Given the description of an element on the screen output the (x, y) to click on. 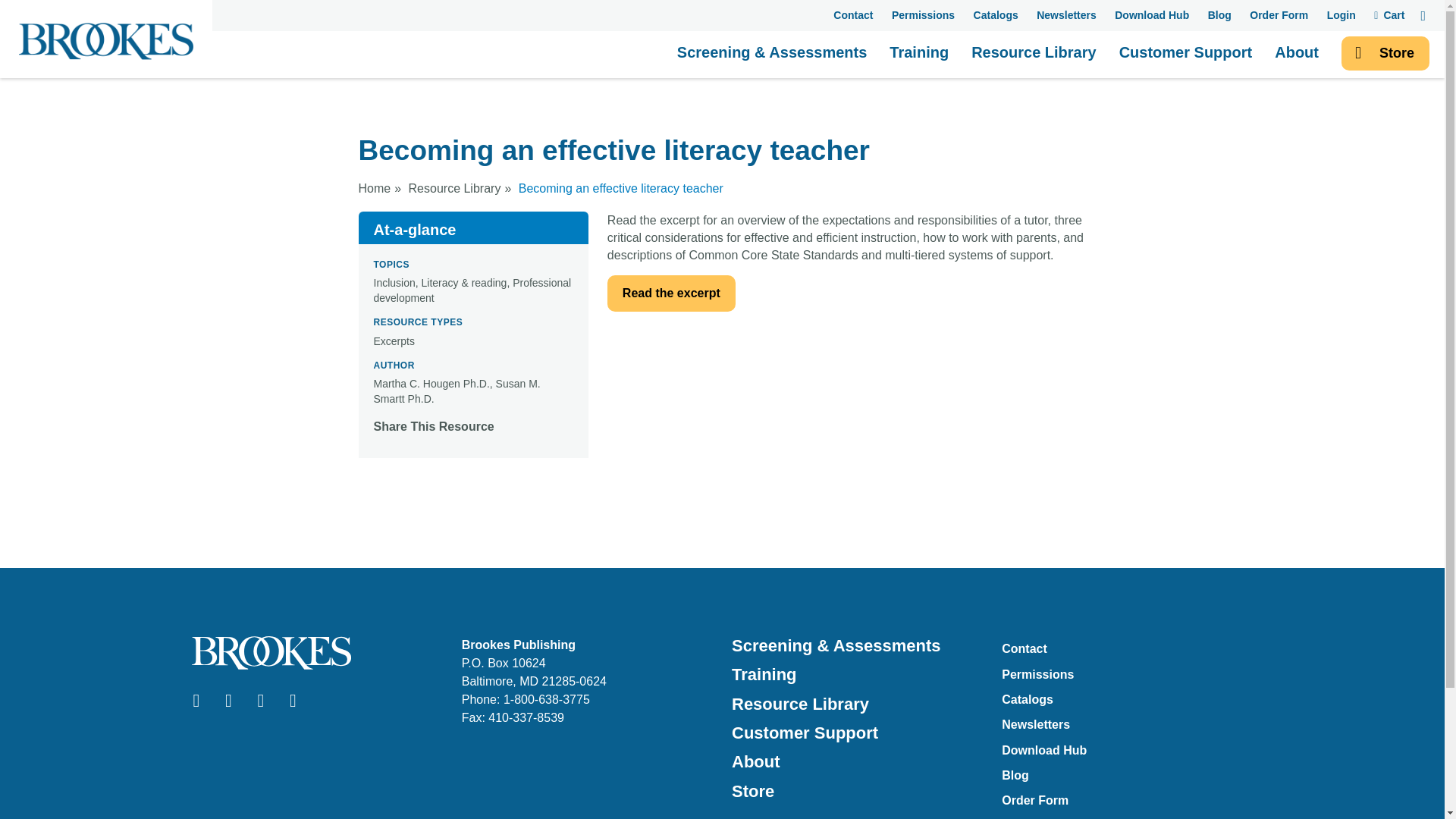
Resource Library (1033, 56)
Download Hub (1152, 15)
Training (919, 56)
Cart (1389, 15)
Catalogs (995, 15)
Contact (852, 15)
Permissions (923, 15)
About (1297, 56)
Go to Becoming an effective literacy teacher. (620, 187)
